Given the description of an element on the screen output the (x, y) to click on. 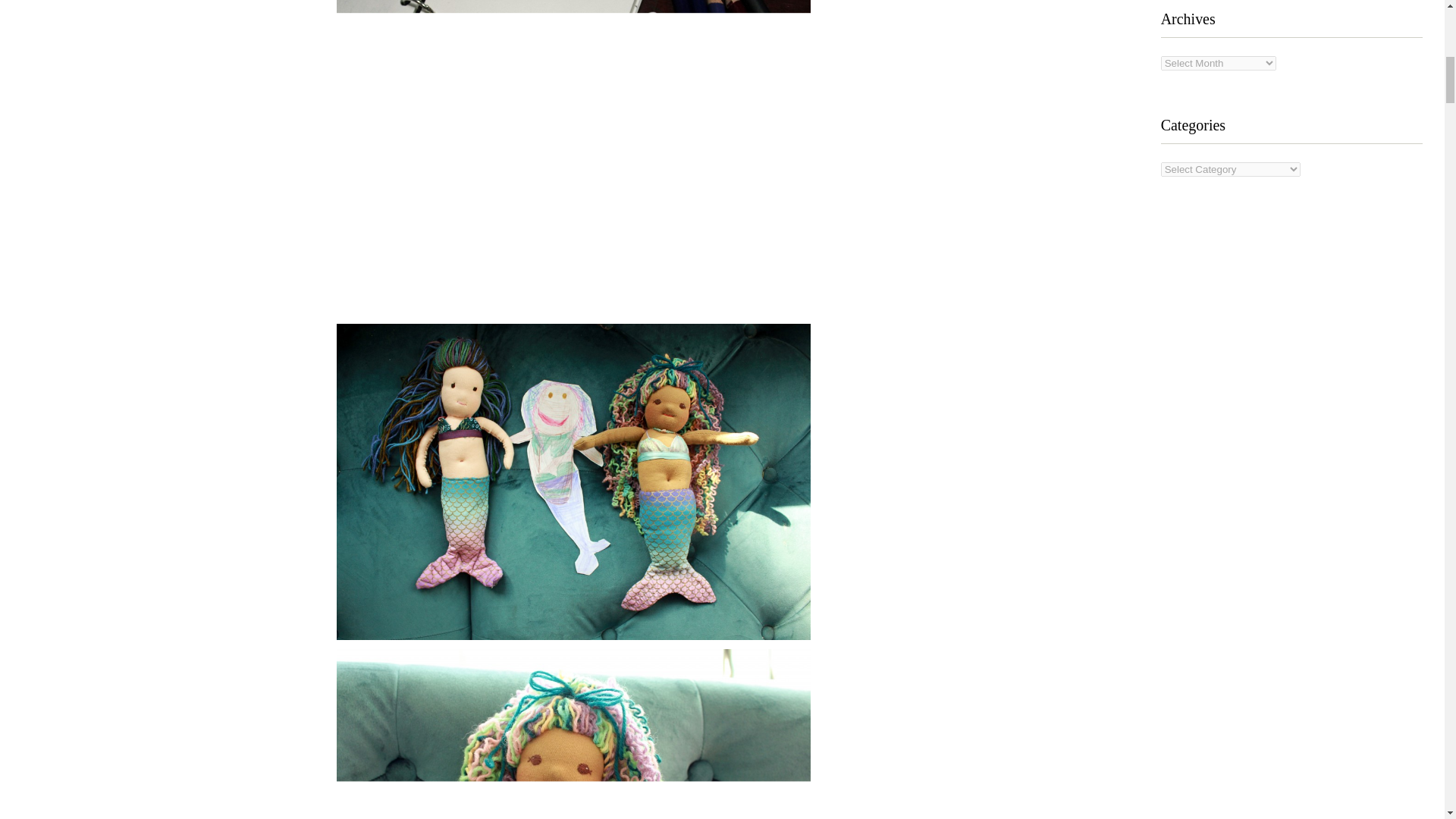
mermaid (573, 734)
